Given the description of an element on the screen output the (x, y) to click on. 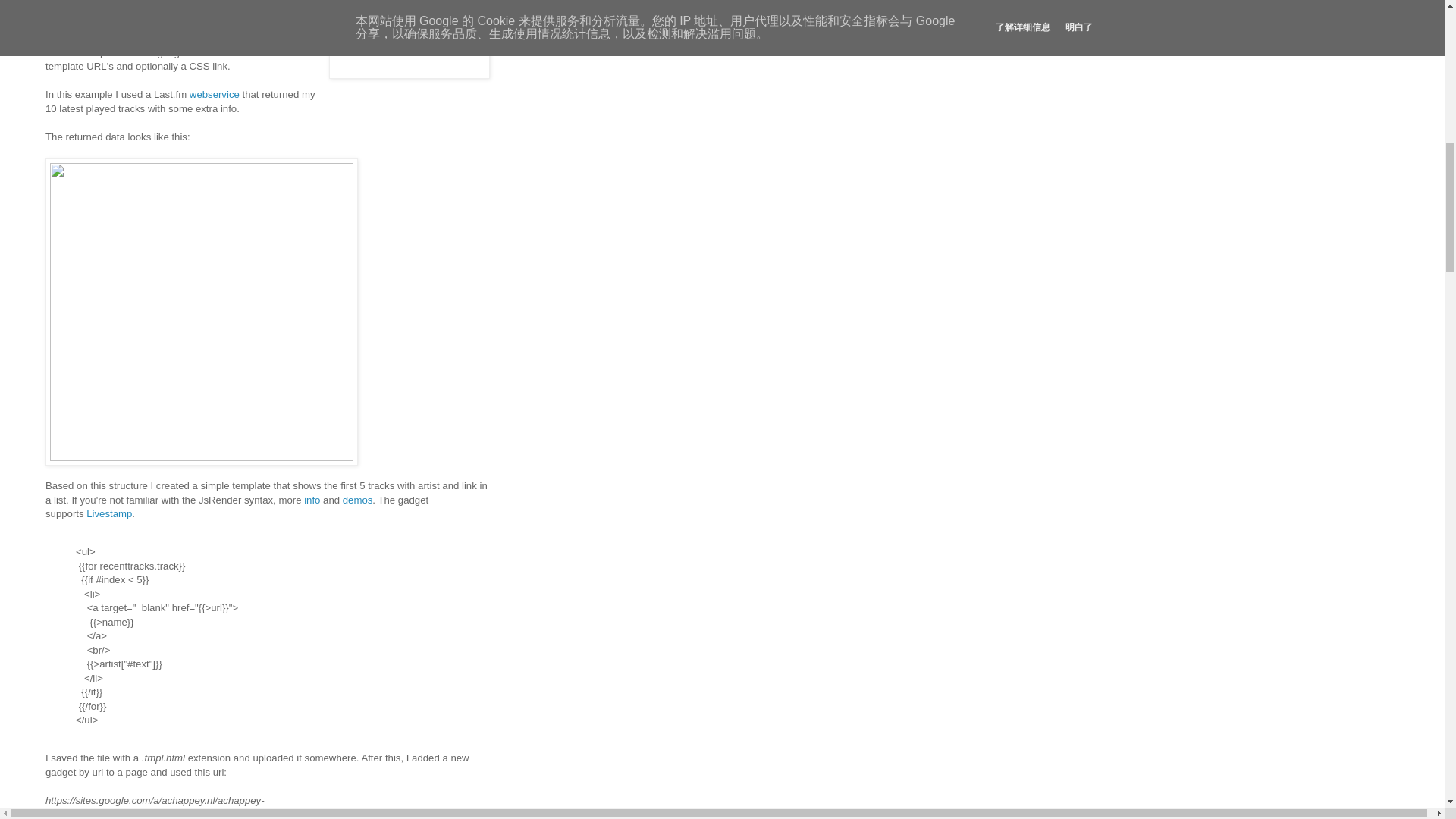
info (312, 500)
Livestamp (108, 513)
demos (357, 500)
webservice (214, 93)
